Given the description of an element on the screen output the (x, y) to click on. 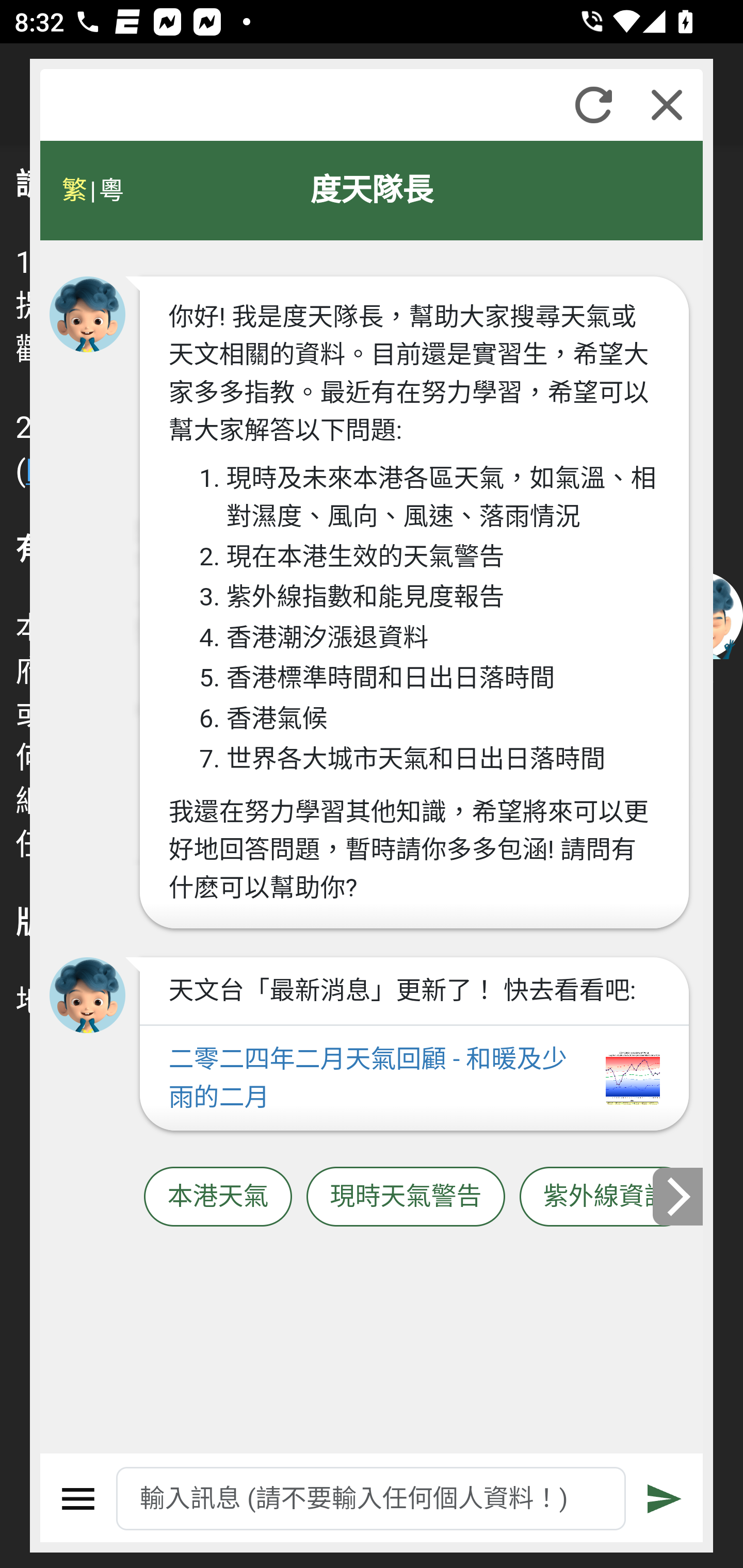
重新整理 (593, 104)
關閉 (666, 104)
繁 (73, 190)
粵 (110, 190)
二零二四年二月天氣回顧 - 和暖及少雨的二月 (413, 1078)
本港天氣 (217, 1196)
現時天氣警告 (405, 1196)
紫外線資訊 (605, 1196)
下一張 (678, 1196)
選單 (78, 1498)
遞交 (665, 1498)
